Given the description of an element on the screen output the (x, y) to click on. 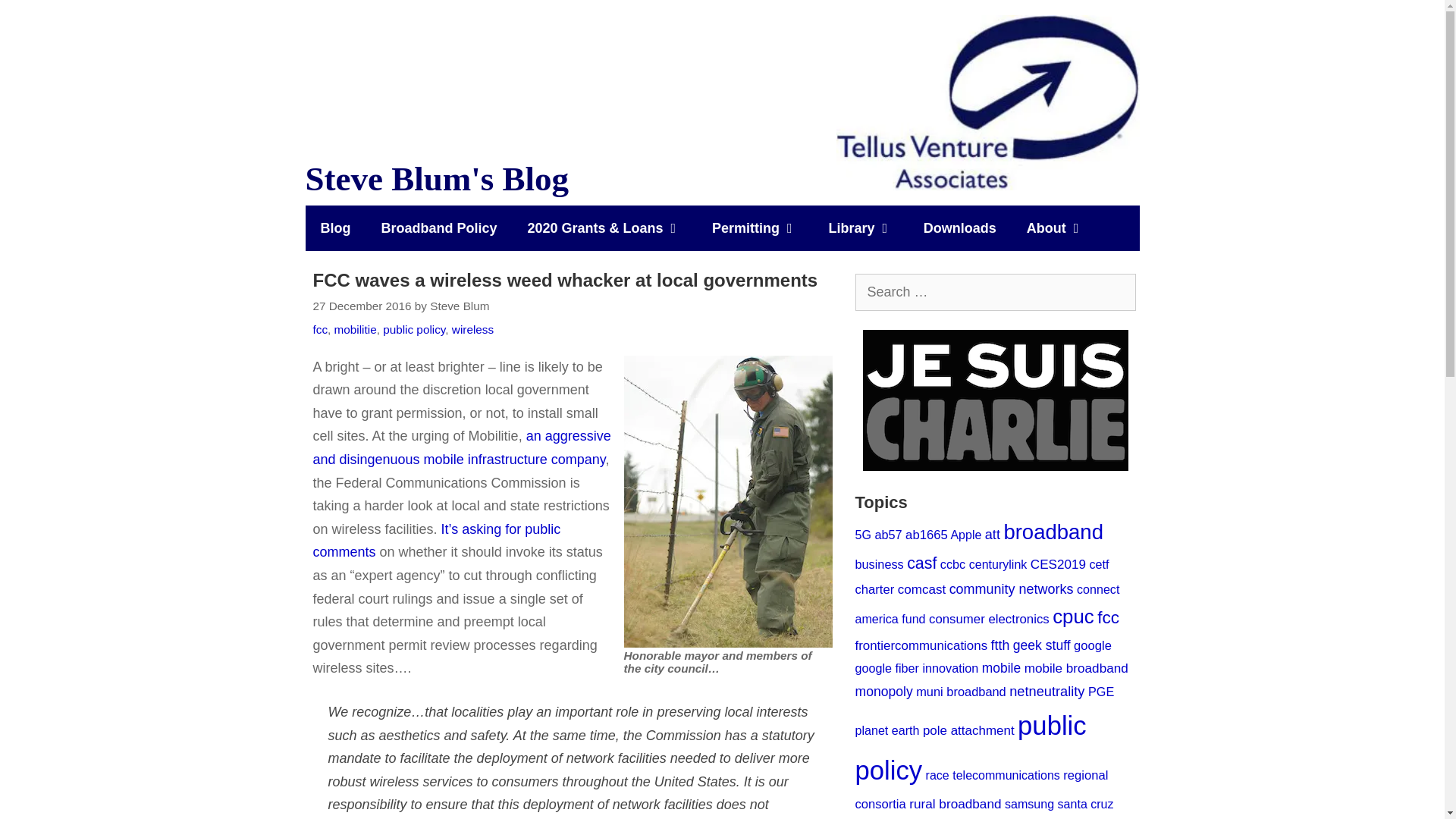
Je Suis Charlie (995, 400)
Blog (334, 227)
Search for: (995, 292)
Steve Blum's Blog (986, 102)
Steve Blum's Blog (986, 101)
47 topics (863, 534)
71 topics (888, 534)
Broadband Policy (438, 227)
